Given the description of an element on the screen output the (x, y) to click on. 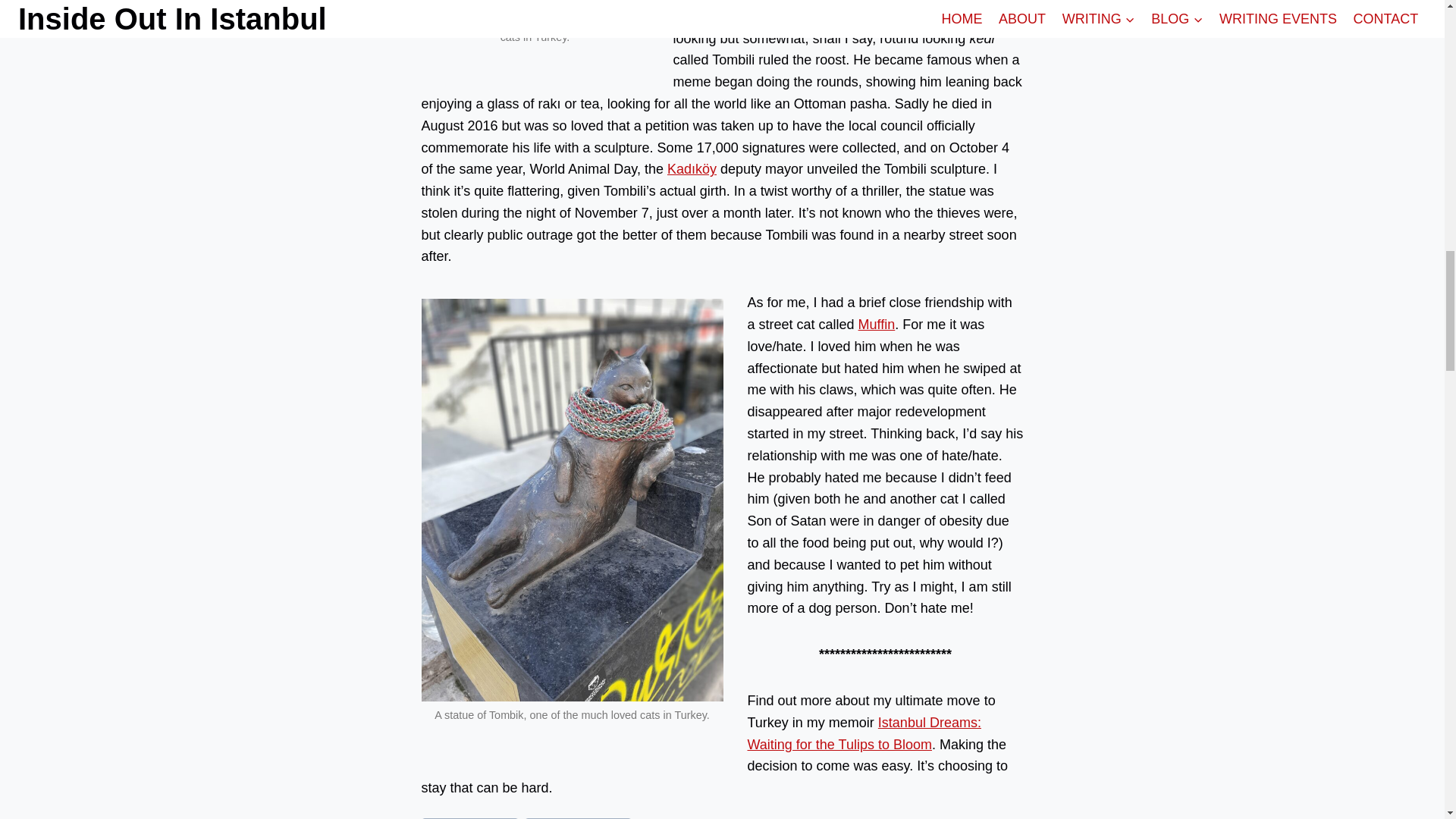
Istanbul Dreams: Waiting for the Tulips to Bloom (864, 733)
Muffin (877, 324)
